Given the description of an element on the screen output the (x, y) to click on. 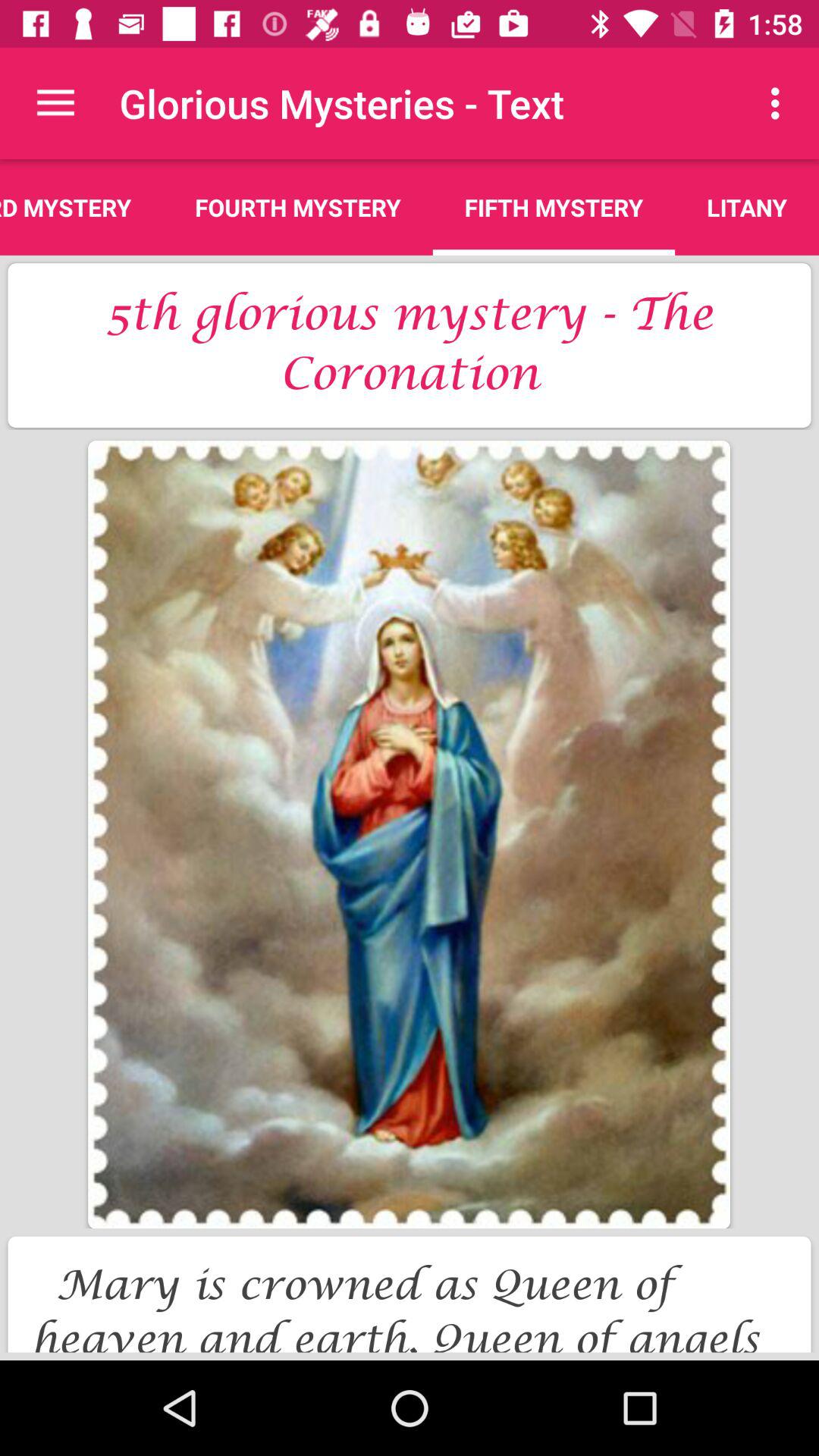
select the item to the right of the fourth mystery icon (553, 207)
